Given the description of an element on the screen output the (x, y) to click on. 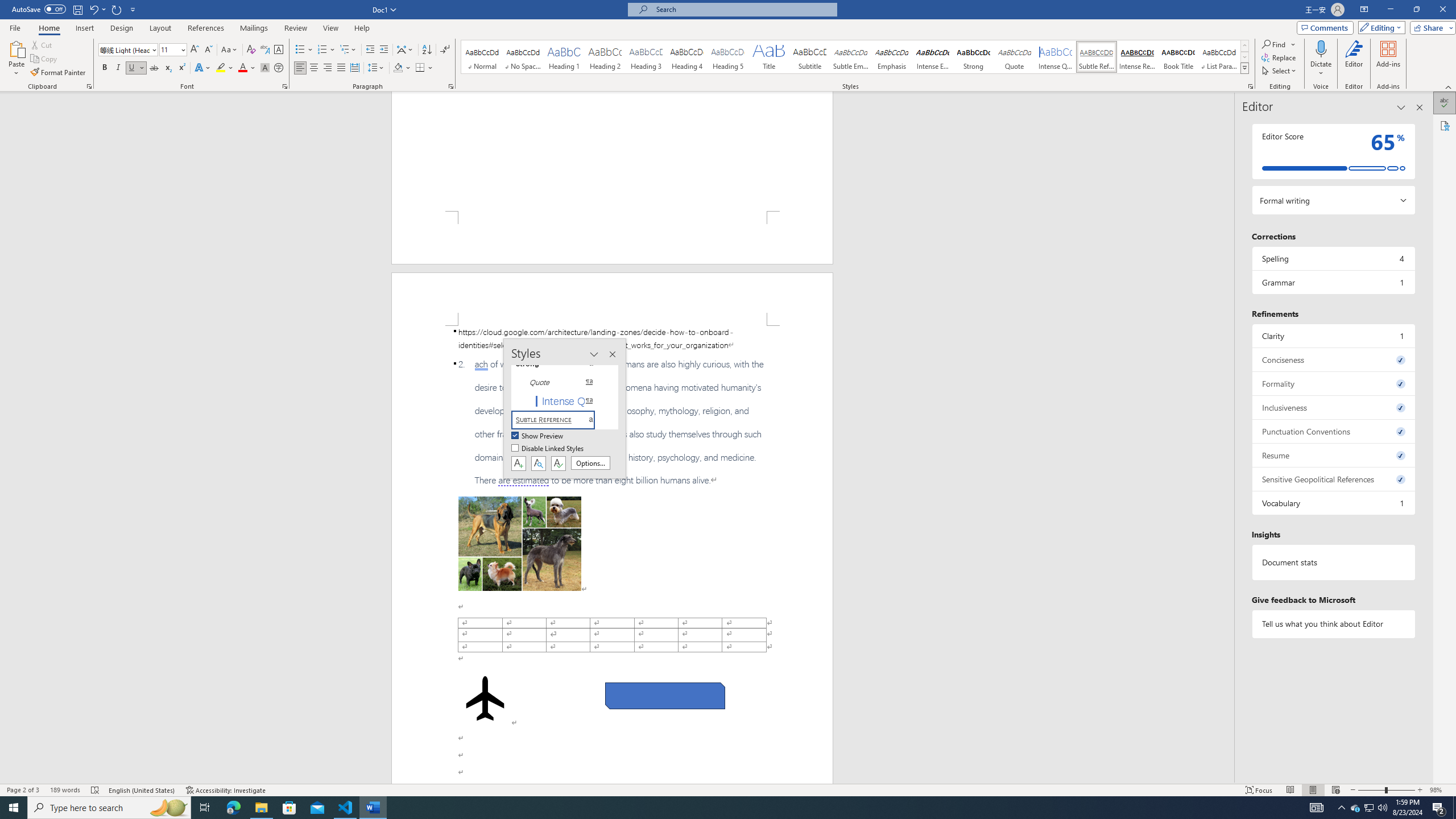
Book Title (1177, 56)
Subtle Emphasis (849, 56)
